Given the description of an element on the screen output the (x, y) to click on. 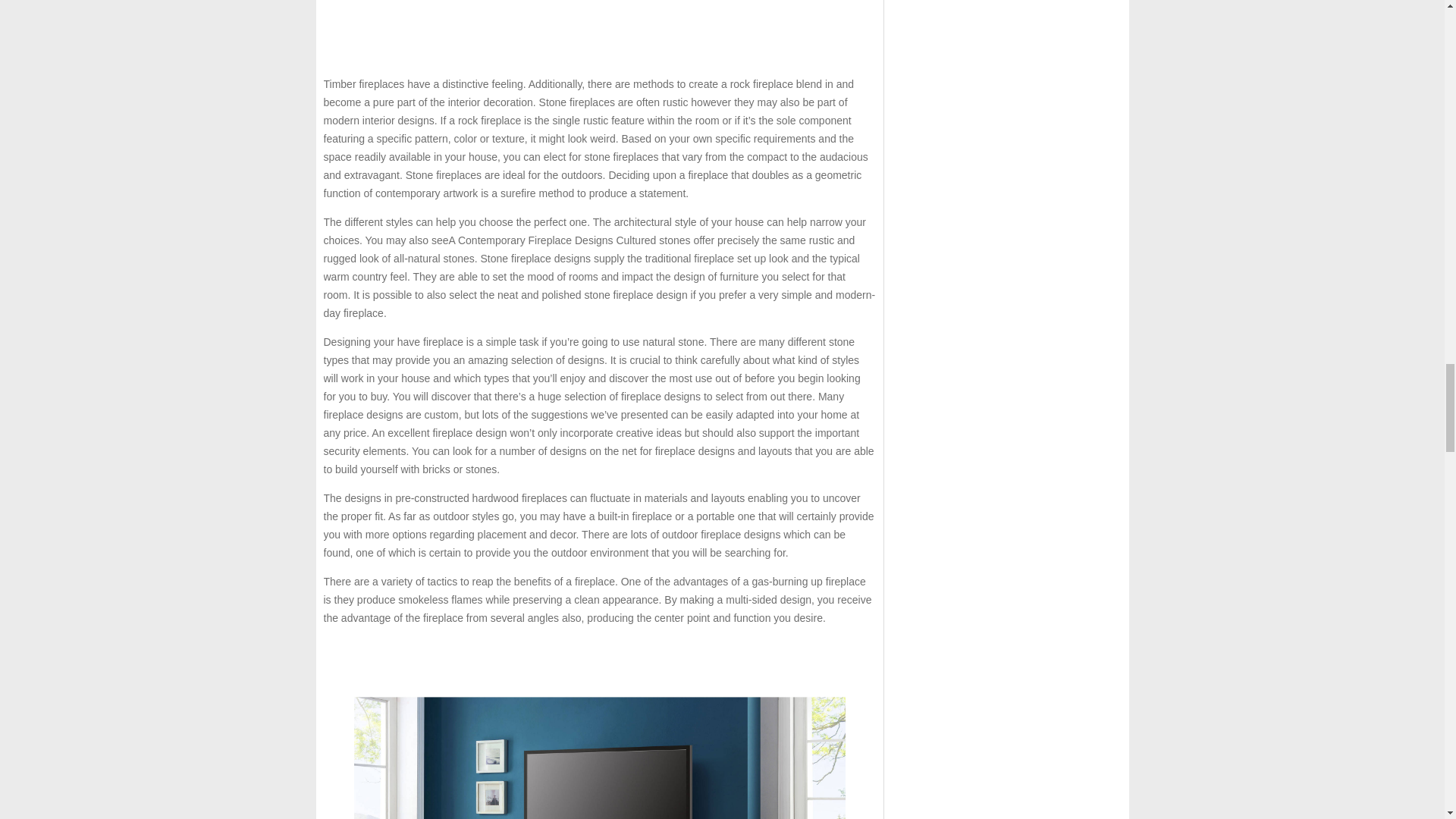
Whalen Barston Media Fireplace for TV s up to 70 Multiple (598, 728)
Advertisement (599, 32)
